Given the description of an element on the screen output the (x, y) to click on. 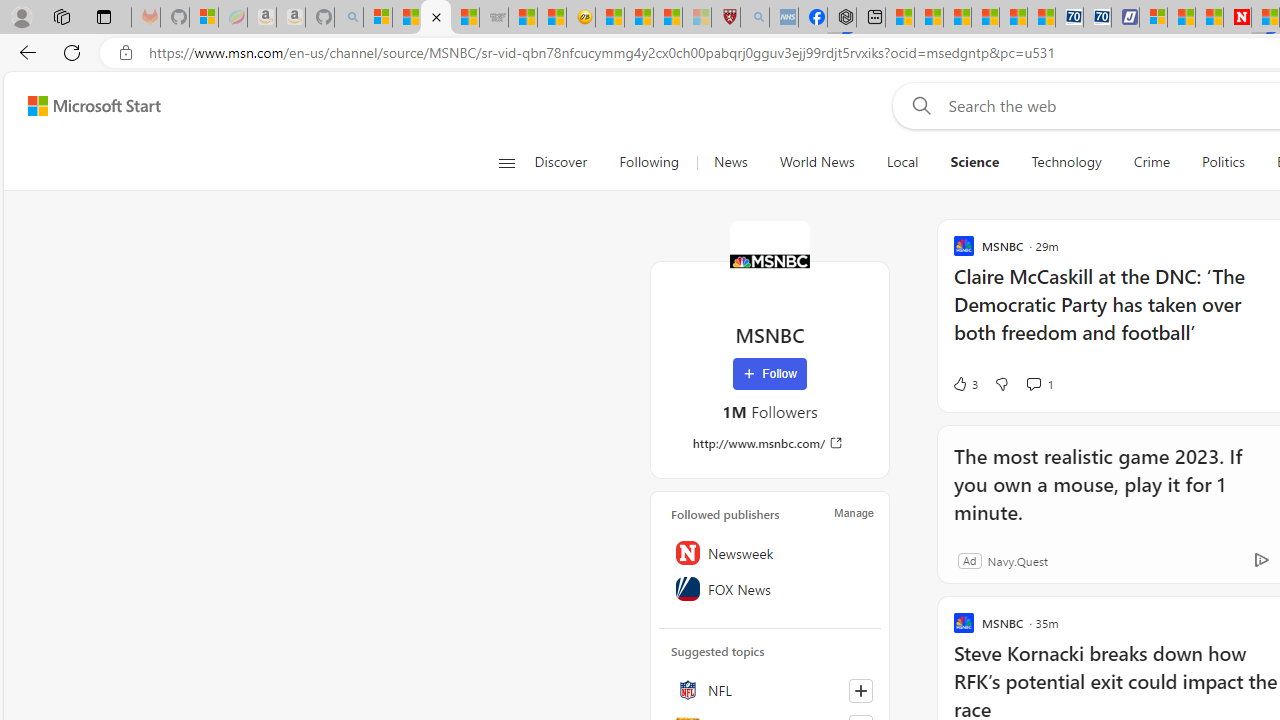
Follow this topic (860, 690)
Robert H. Shmerling, MD - Harvard Health (725, 17)
